Given the description of an element on the screen output the (x, y) to click on. 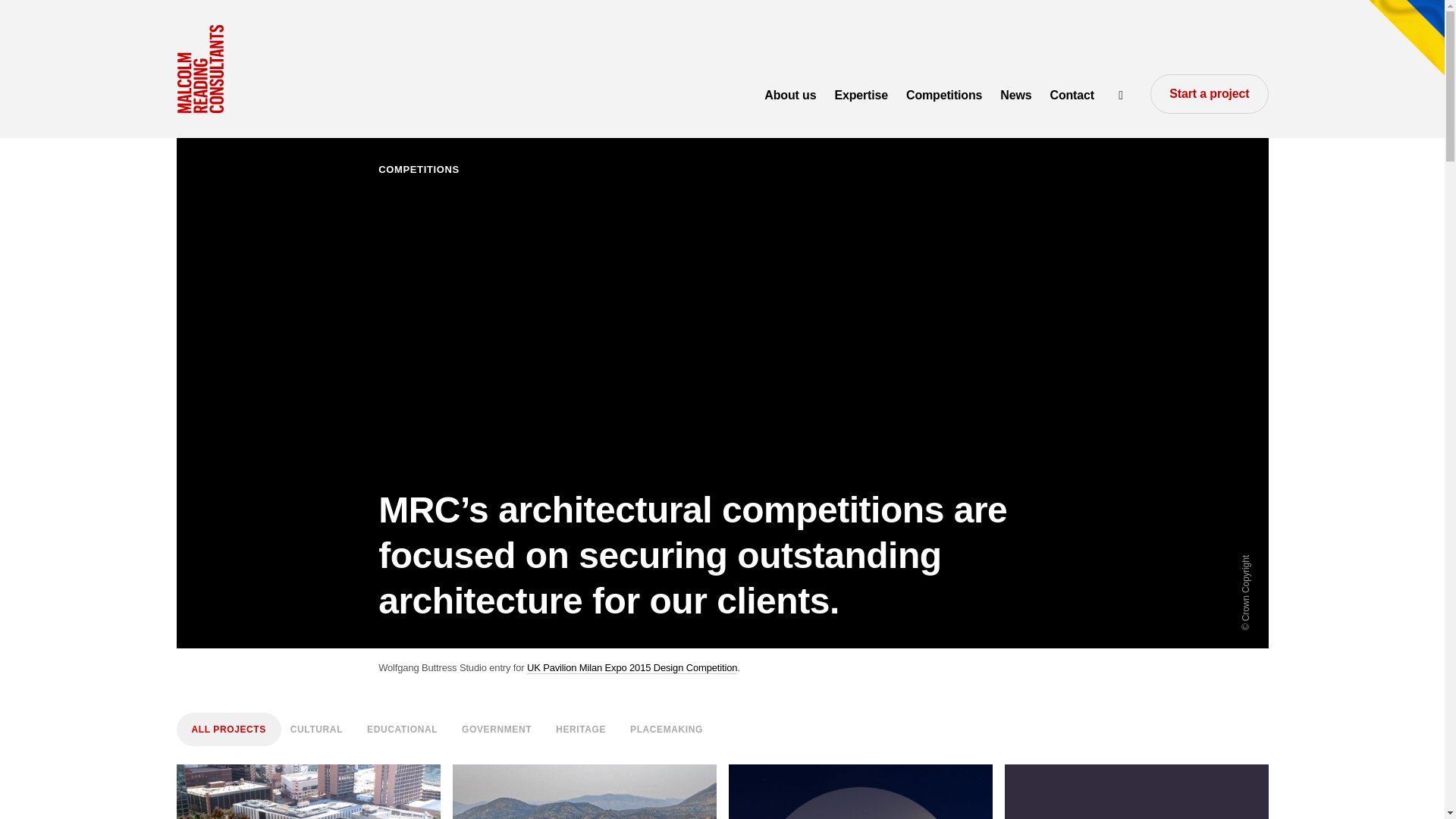
About us (790, 94)
News (1016, 94)
HERITAGE (580, 729)
UK Pavilion Milan Expo 2015 Design Competition (583, 791)
EDUCATIONAL (631, 667)
Expertise (402, 729)
GOVERNMENT (860, 94)
Contact (496, 729)
ALL PROJECTS (1071, 94)
